Given the description of an element on the screen output the (x, y) to click on. 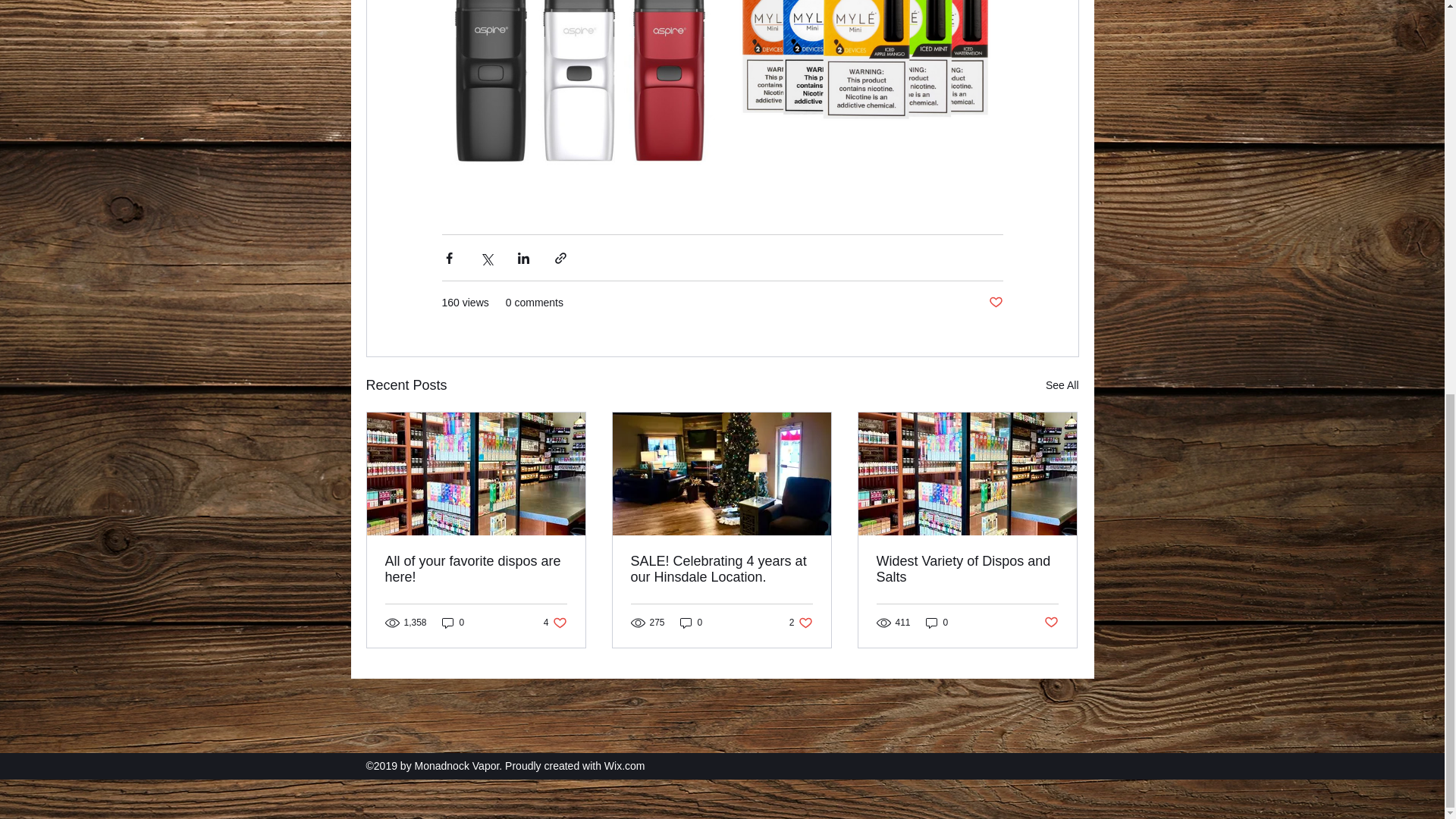
0 (937, 622)
0 (453, 622)
All of your favorite dispos are here! (476, 569)
Post not marked as liked (800, 622)
0 (995, 302)
Widest Variety of Dispos and Salts (555, 622)
See All (691, 622)
SALE! Celebrating 4 years at our Hinsdale Location. (967, 569)
